Given the description of an element on the screen output the (x, y) to click on. 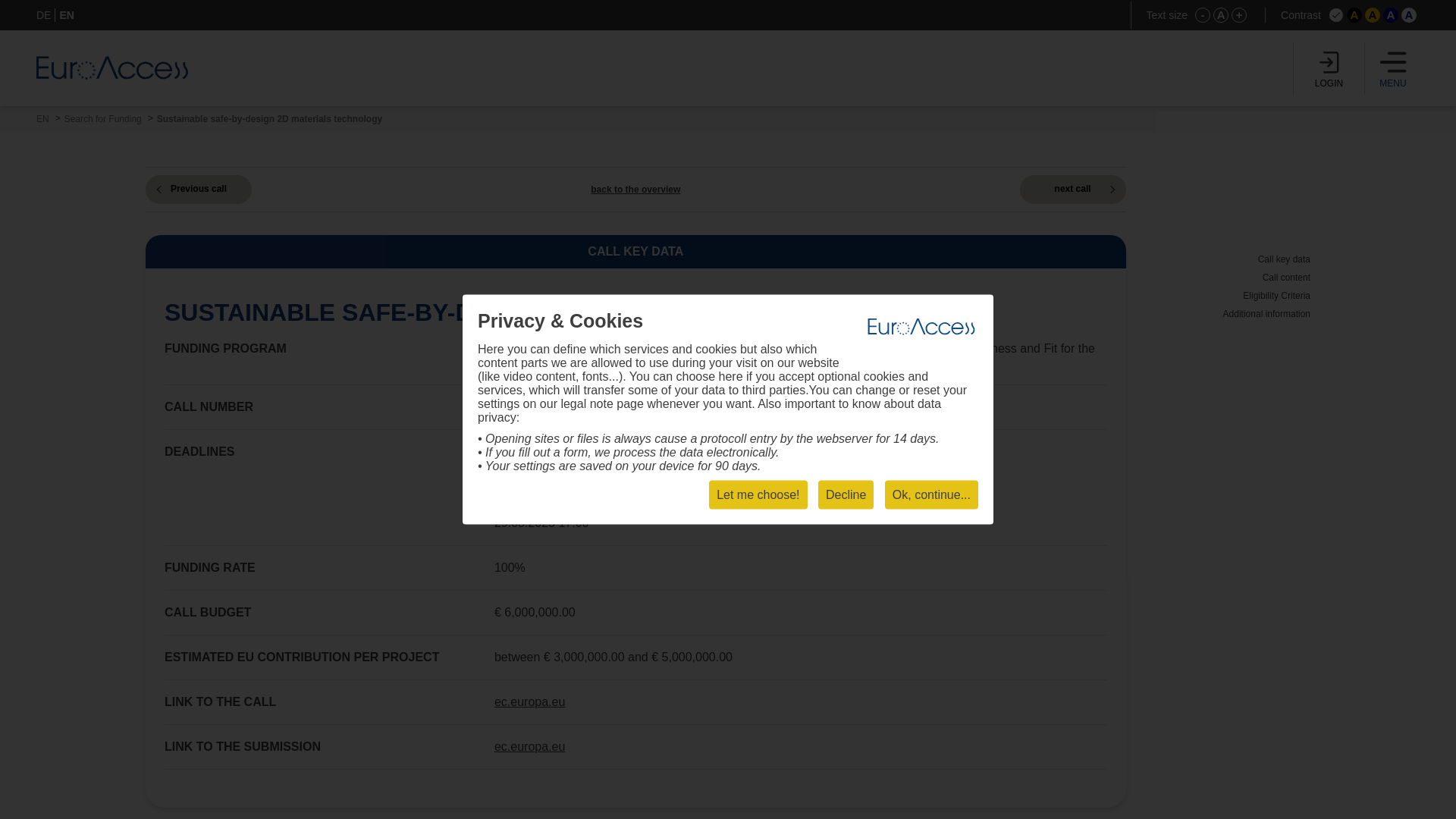
Black on yellow (1372, 14)
White on blue (1390, 14)
MENU (1393, 68)
A (1220, 14)
Search for Funding (102, 118)
Yellow on black (1353, 14)
Blue on white (1408, 14)
Search for Funding (102, 118)
EN (42, 118)
EN (42, 118)
- (1202, 14)
A (1390, 14)
EN (66, 15)
Zur Startseite (111, 67)
DE (43, 15)
